Given the description of an element on the screen output the (x, y) to click on. 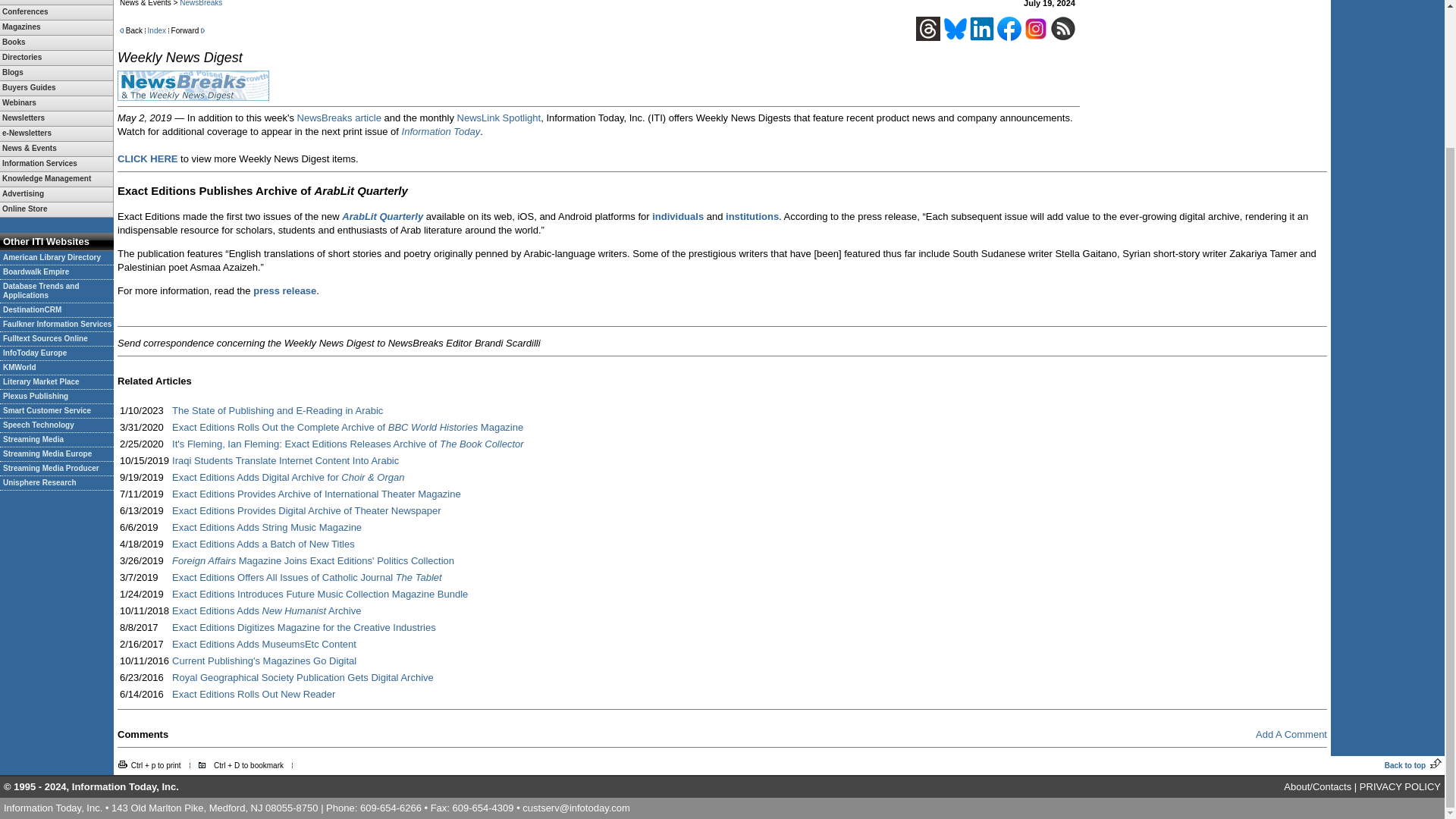
Conferences (56, 11)
Magazines (56, 27)
Home (56, 2)
